Given the description of an element on the screen output the (x, y) to click on. 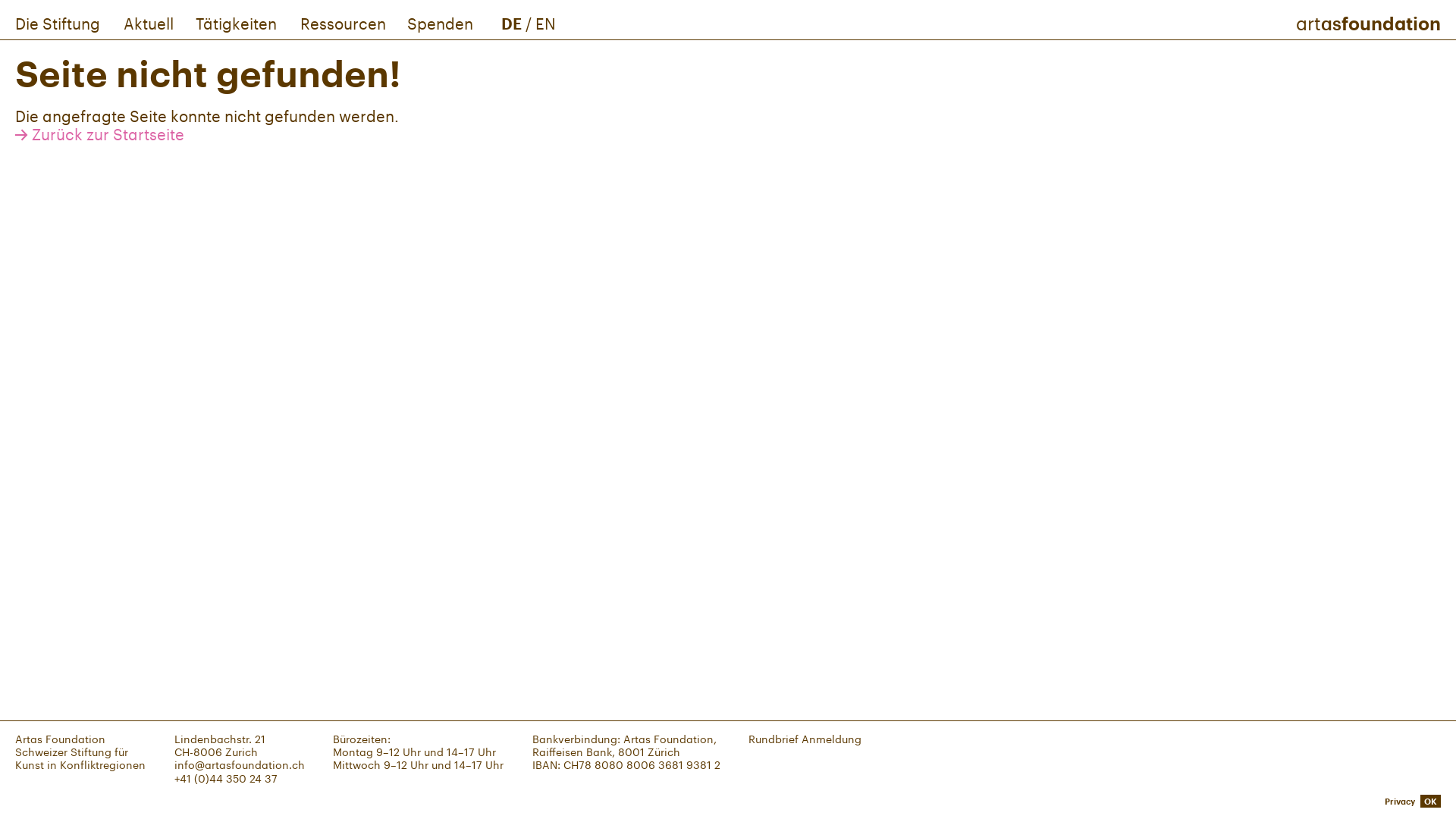
Aktuell Element type: text (149, 23)
info@artasfoundation.ch Element type: text (239, 764)
OK Element type: text (1430, 800)
EN Element type: text (545, 23)
+41 (0)44 350 24 37 Element type: text (225, 777)
artasfoundation Element type: text (1367, 23)
Die Stiftung Element type: text (59, 23)
Spenden Element type: text (440, 23)
DE Element type: text (511, 23)
Ressourcen Element type: text (344, 23)
Privacy Element type: text (1399, 801)
Rundbrief Anmeldung Element type: text (804, 738)
